Given the description of an element on the screen output the (x, y) to click on. 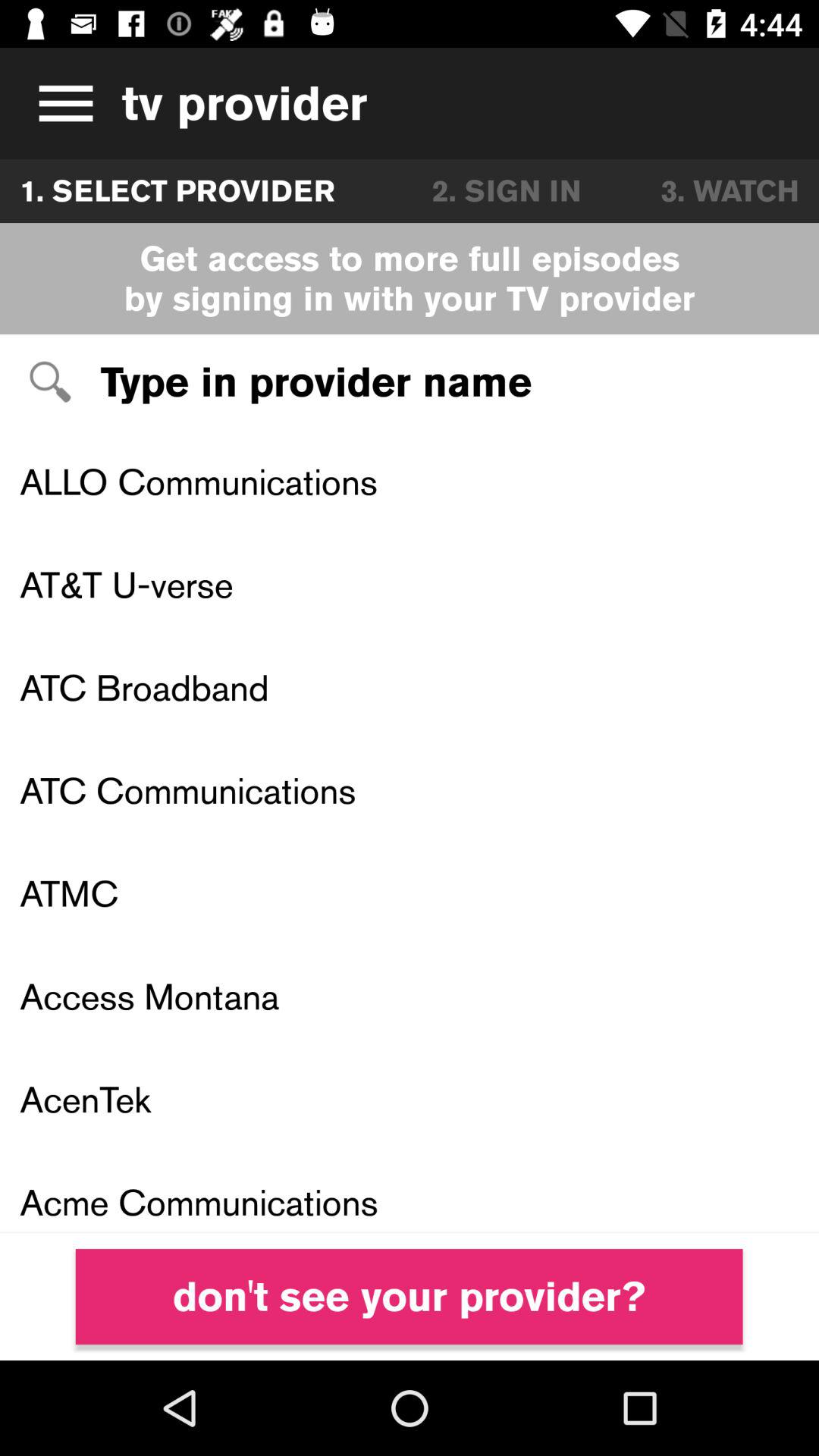
tap the item below the acentek (409, 1191)
